Given the description of an element on the screen output the (x, y) to click on. 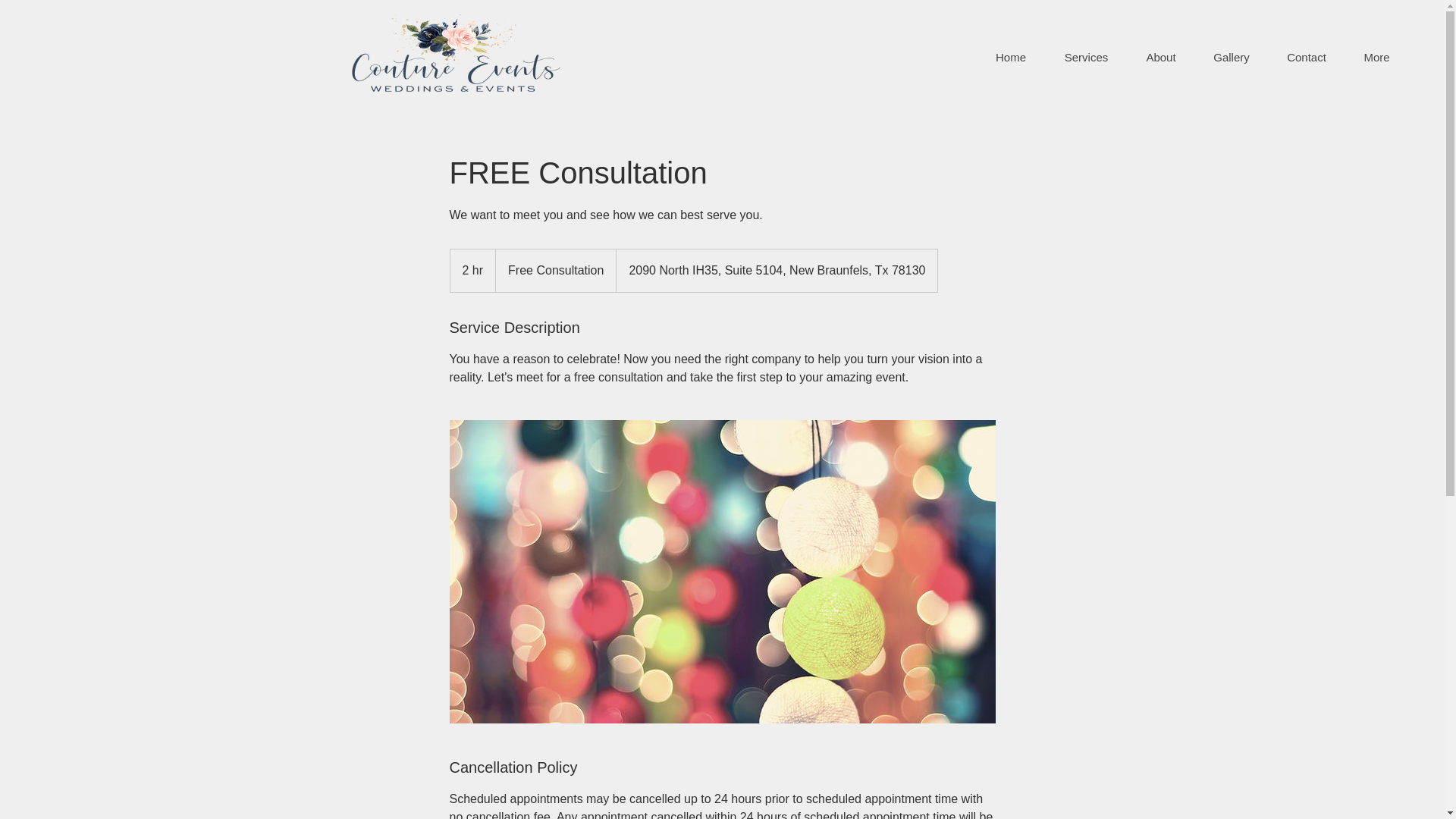
Services (1085, 57)
About (1159, 57)
Home (1010, 57)
Contact (1305, 57)
Gallery (1230, 57)
